Given the description of an element on the screen output the (x, y) to click on. 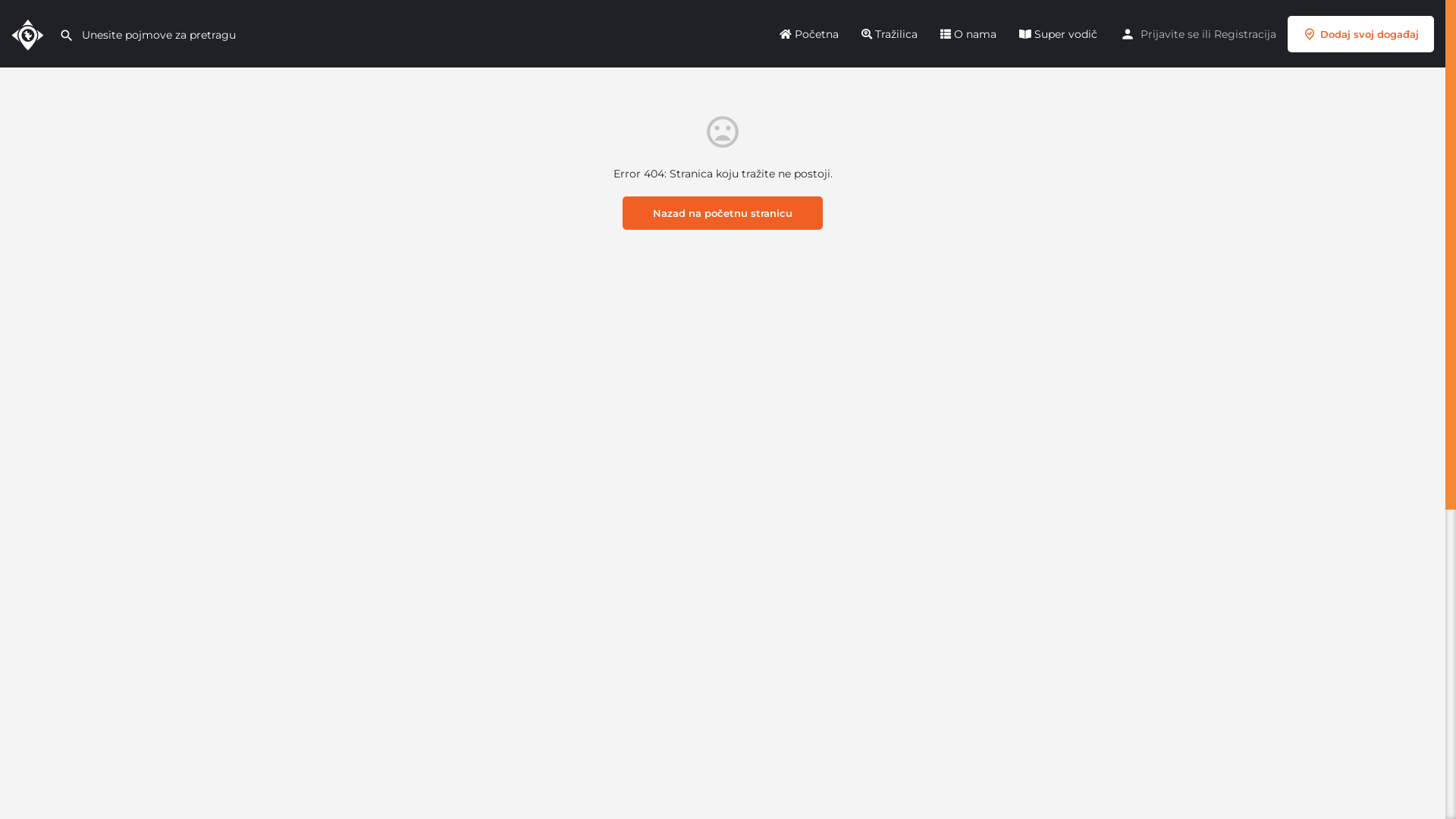
Registracija Element type: text (1245, 33)
O nama Element type: text (968, 32)
Prijavite se Element type: text (1169, 33)
